Given the description of an element on the screen output the (x, y) to click on. 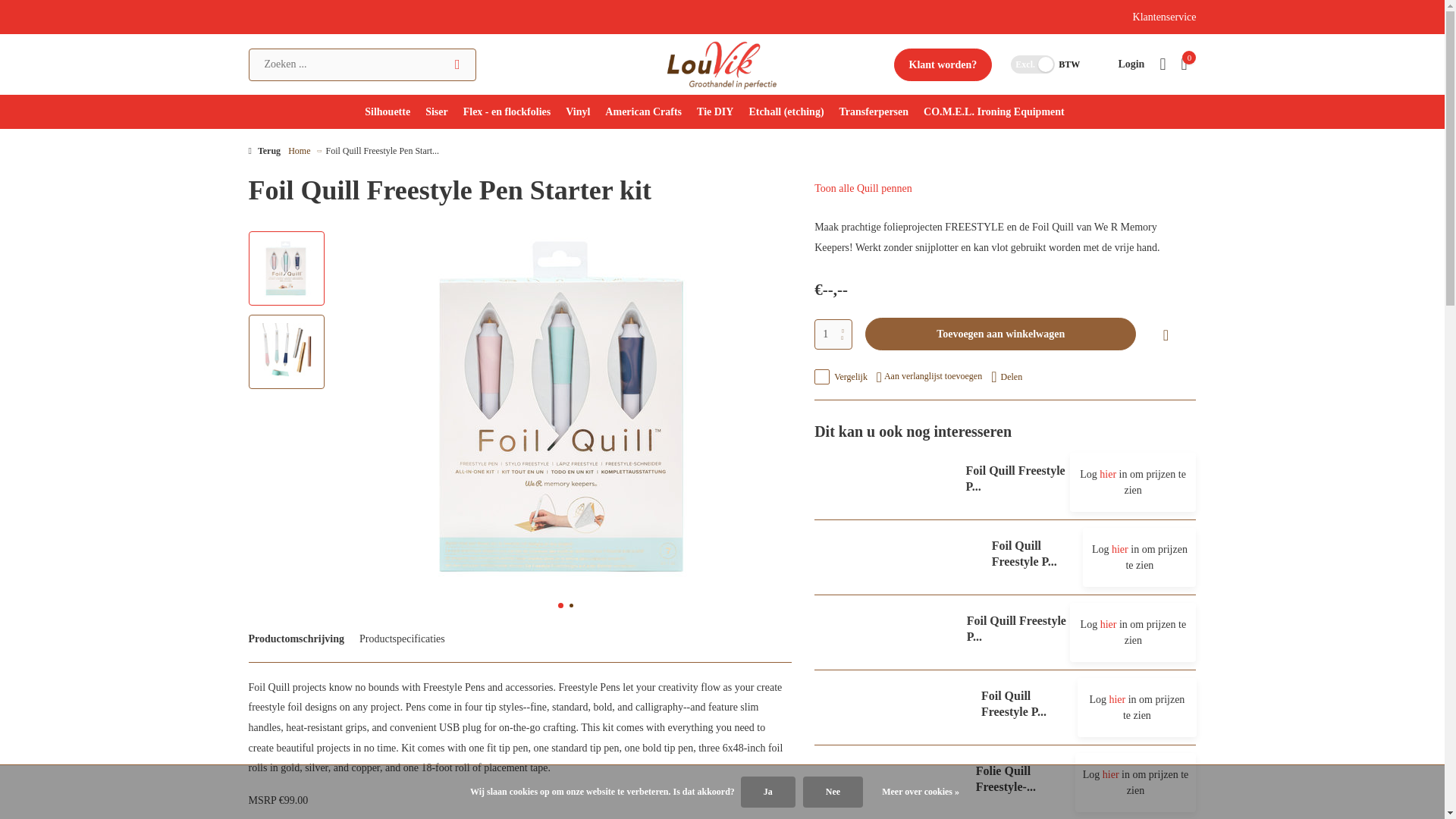
Zoeken (456, 64)
1 (832, 334)
Login (1131, 64)
Klant worden? (942, 64)
Flex - en flockfolies (506, 111)
Groothandel in perfectie (721, 64)
Klantenservice (1164, 16)
Silhouette (387, 111)
Foil Quill Freestyle Pen Starter kit (285, 268)
Foil Quill Freestyle Pen Starter kit (285, 351)
